Given the description of an element on the screen output the (x, y) to click on. 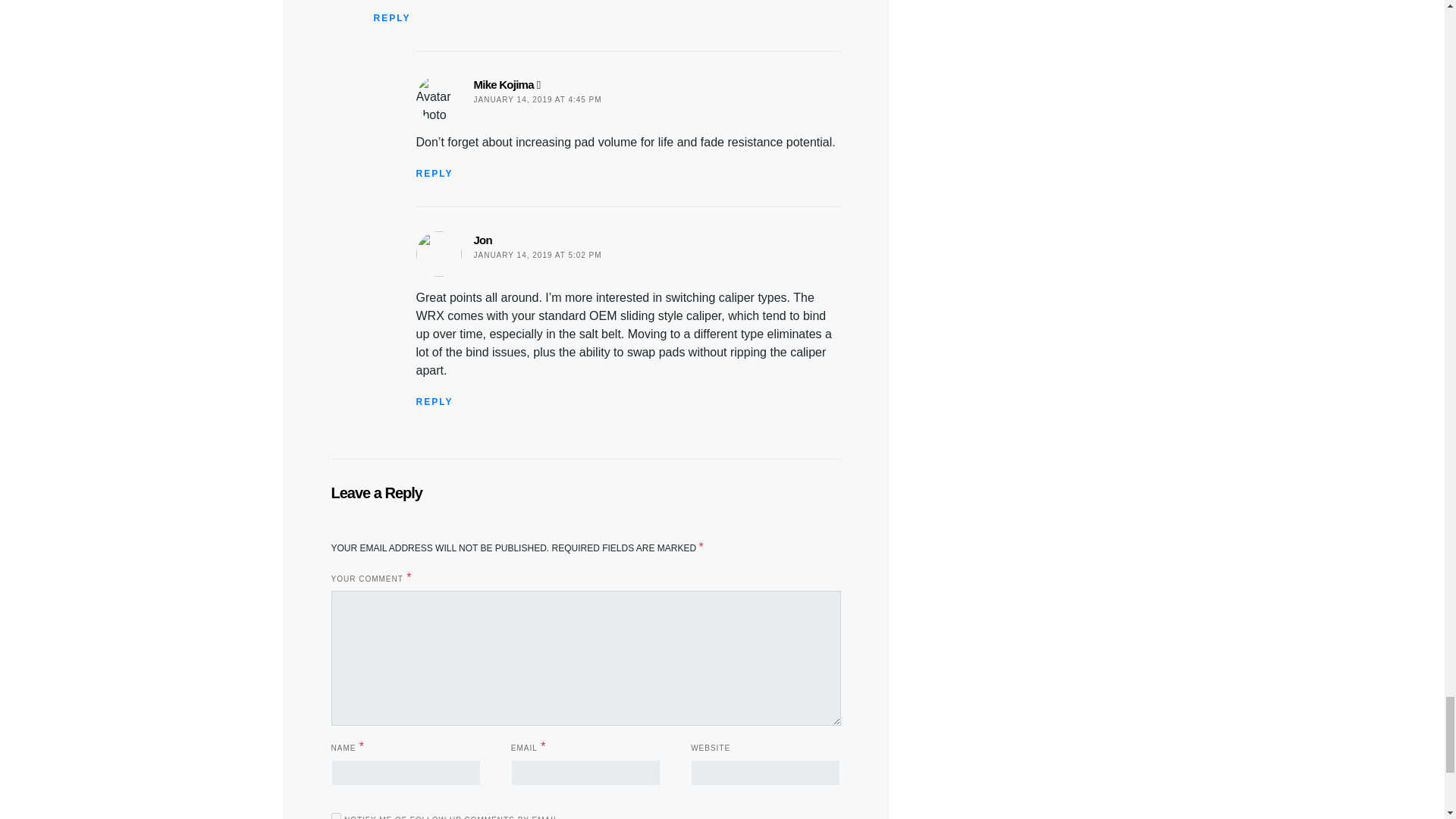
subscribe (335, 816)
